Given the description of an element on the screen output the (x, y) to click on. 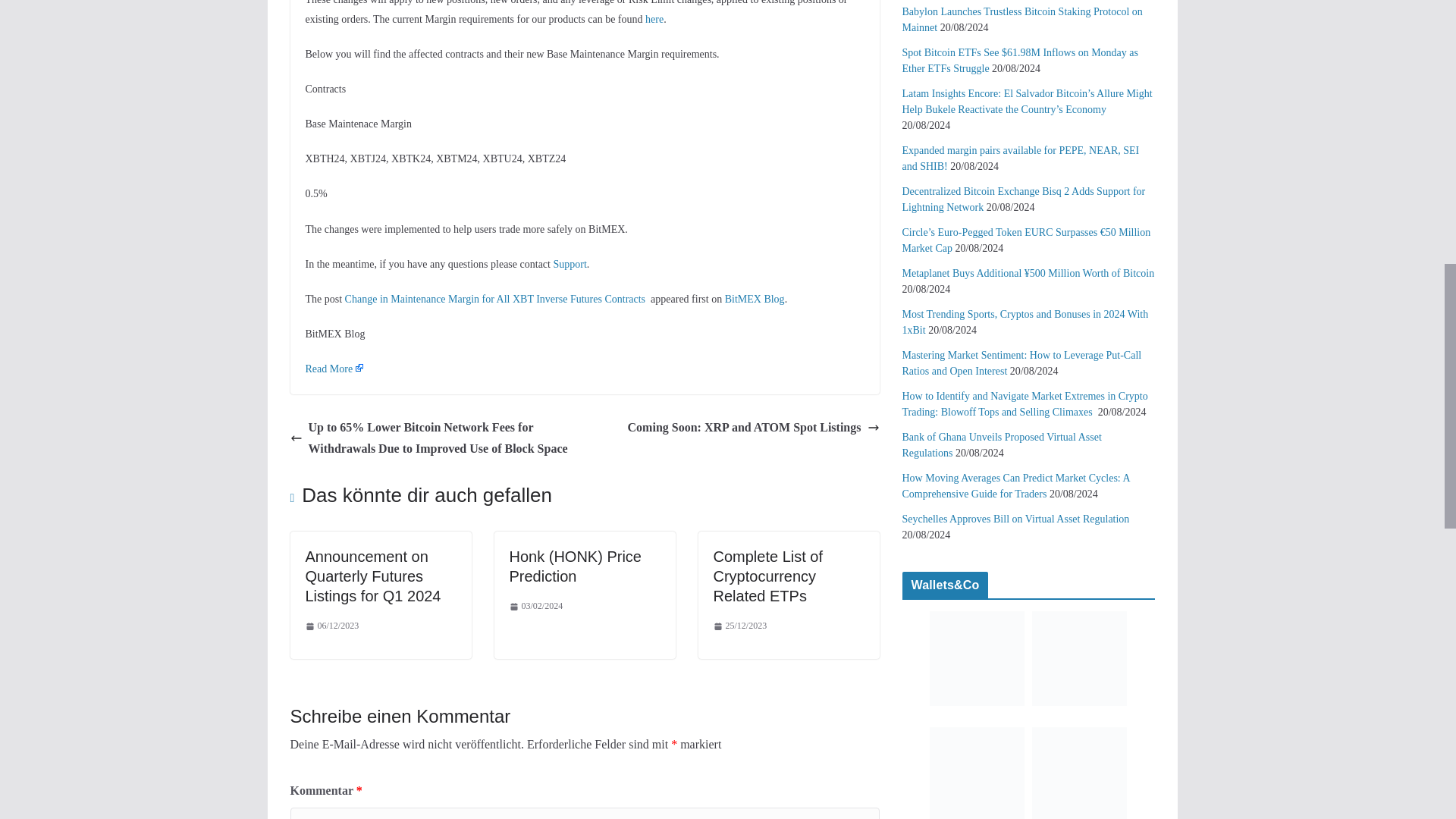
Announcement on Quarterly Futures Listings for Q1 2024 (372, 575)
Read More (334, 368)
here (654, 19)
Support (569, 264)
Announcement on Quarterly Futures Listings for Q1 2024 (372, 575)
Complete List of Cryptocurrency Related ETPs (767, 575)
01:39 (331, 626)
BitMEX Blog (754, 298)
Coming Soon: XRP and ATOM Spot Listings (753, 427)
